Given the description of an element on the screen output the (x, y) to click on. 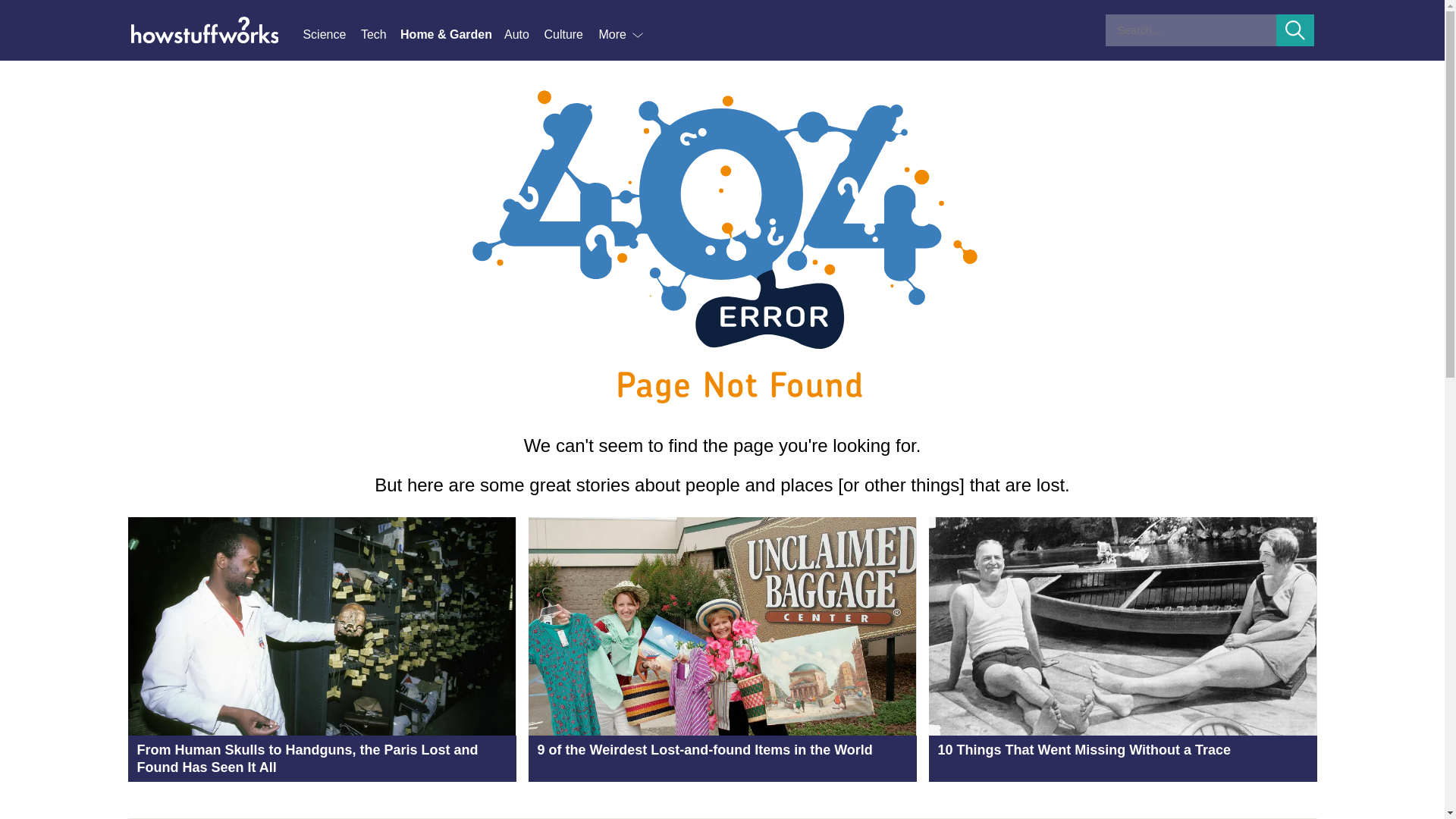
Tech (380, 34)
Submit Search (1295, 29)
More (621, 34)
Science (330, 34)
Auto (523, 34)
Culture (570, 34)
10 Things That Went Missing Without a Trace (1122, 649)
9 of the Weirdest Lost-and-found Items in the World (721, 649)
